Given the description of an element on the screen output the (x, y) to click on. 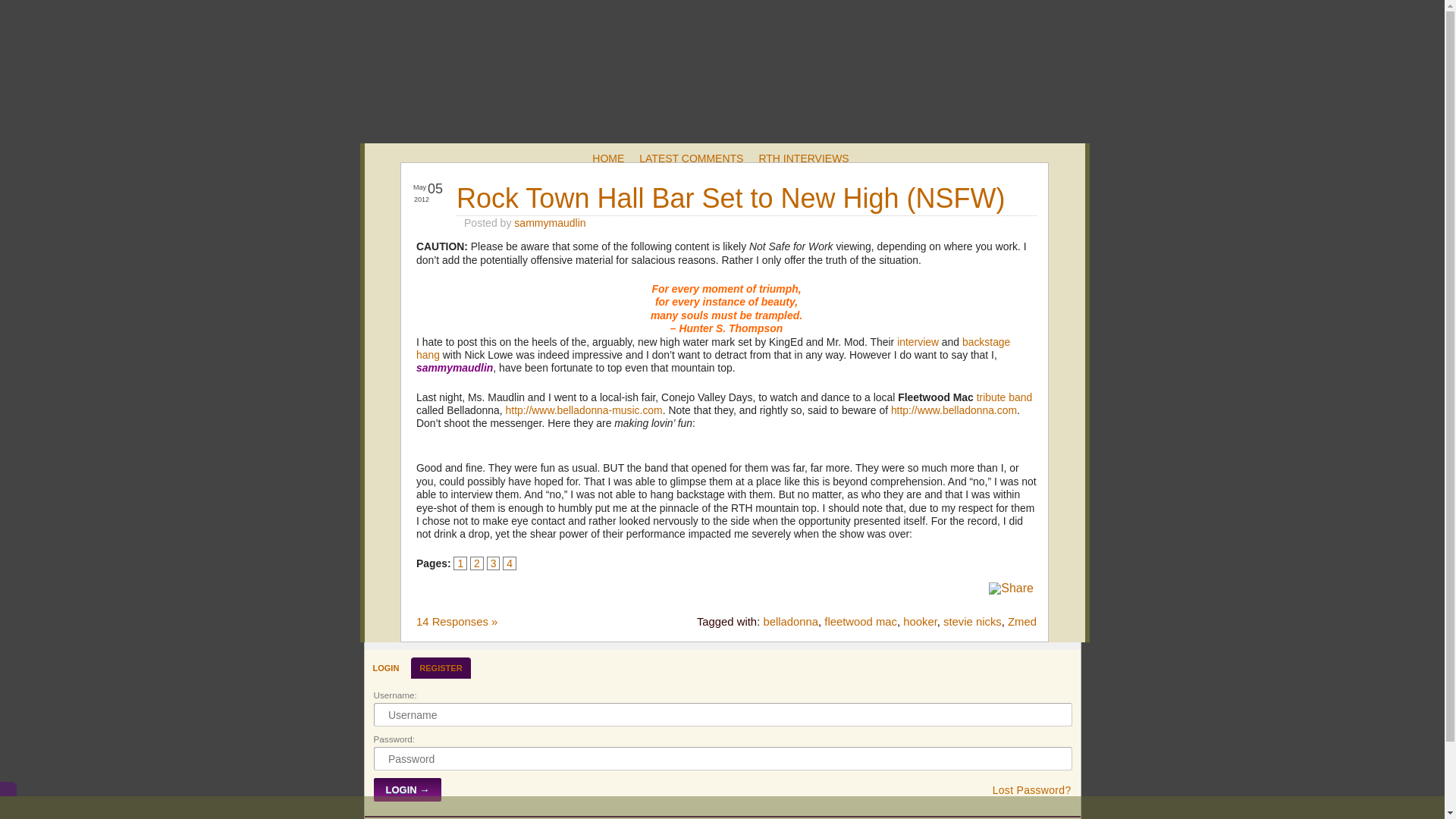
backstage hang (713, 348)
Zmed (1021, 621)
REGISTER (440, 667)
Lost Password? (1031, 788)
HOME (608, 157)
1 (459, 563)
4 (509, 563)
LOGIN (385, 667)
2 (476, 563)
fleetwood mac (860, 621)
